Given the description of an element on the screen output the (x, y) to click on. 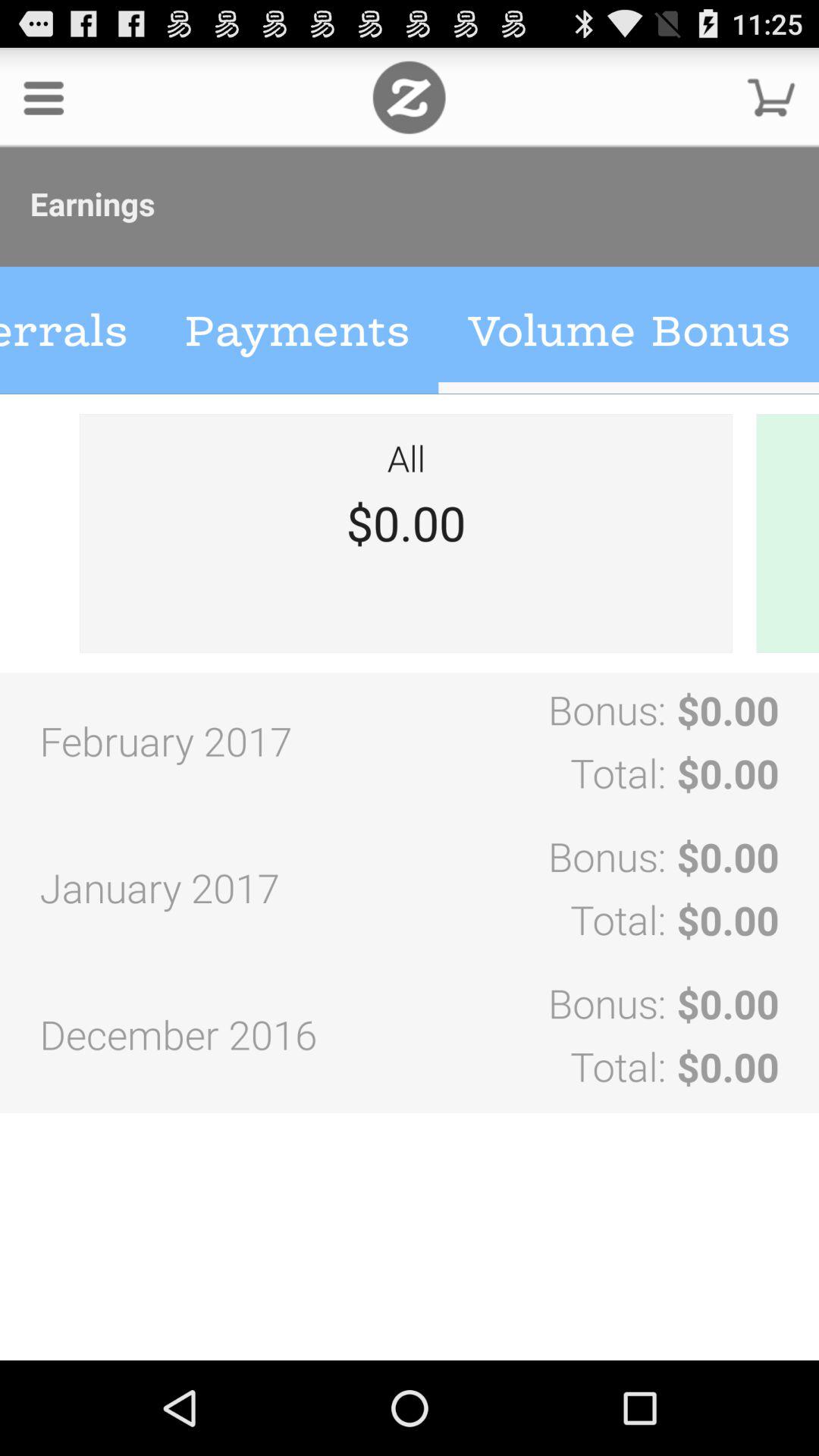
expand menu (43, 97)
